Given the description of an element on the screen output the (x, y) to click on. 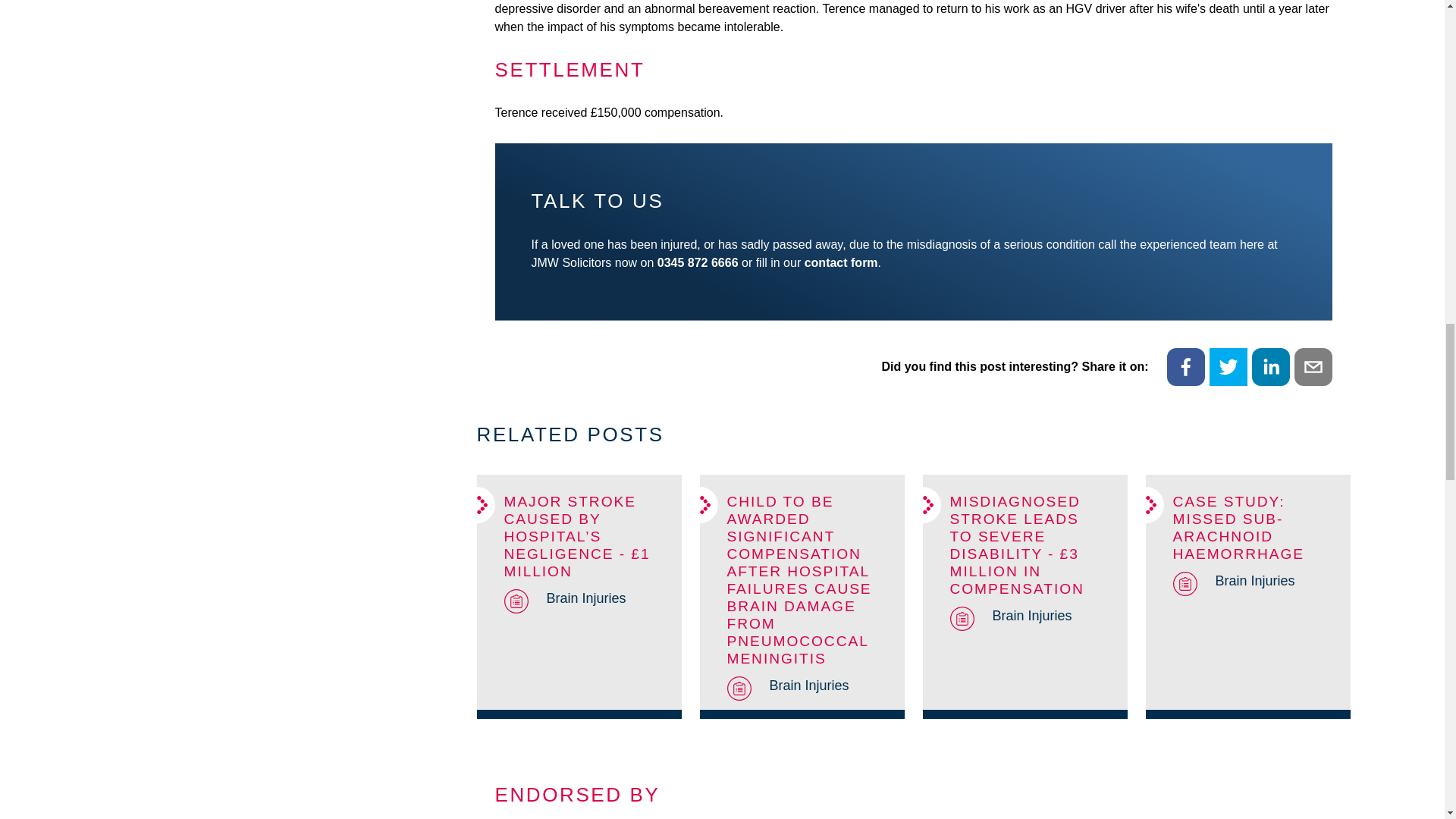
Brain Injuries (808, 685)
CASE STUDY: MISSED SUB-ARACHNOID HAEMORRHAGE (1238, 527)
Brain Injuries (1031, 615)
0345 872 6666 (698, 262)
Brain Injuries (1254, 580)
contact form (841, 262)
Brain Injuries (586, 597)
